Given the description of an element on the screen output the (x, y) to click on. 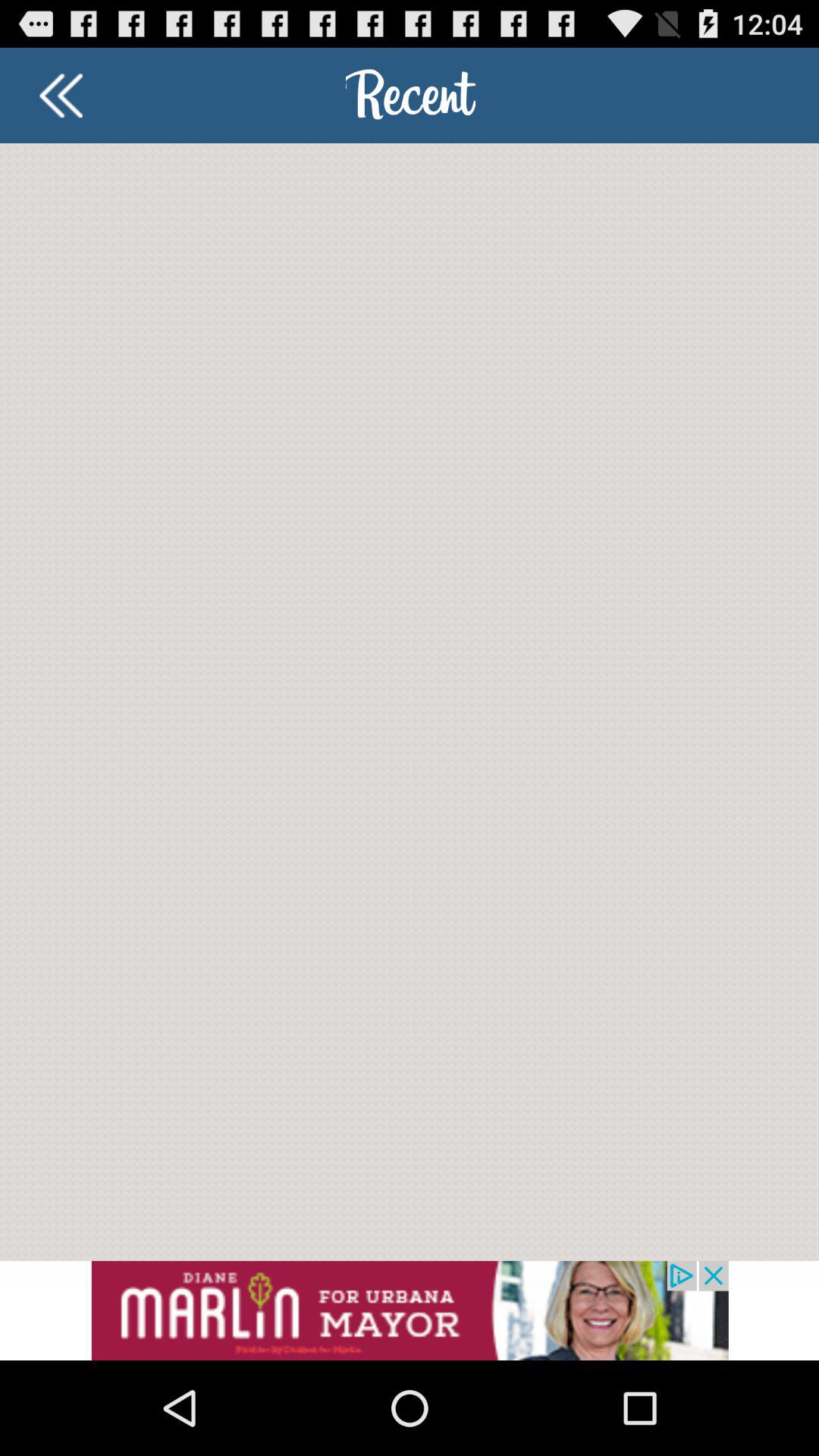
open advertisement (409, 1310)
